Given the description of an element on the screen output the (x, y) to click on. 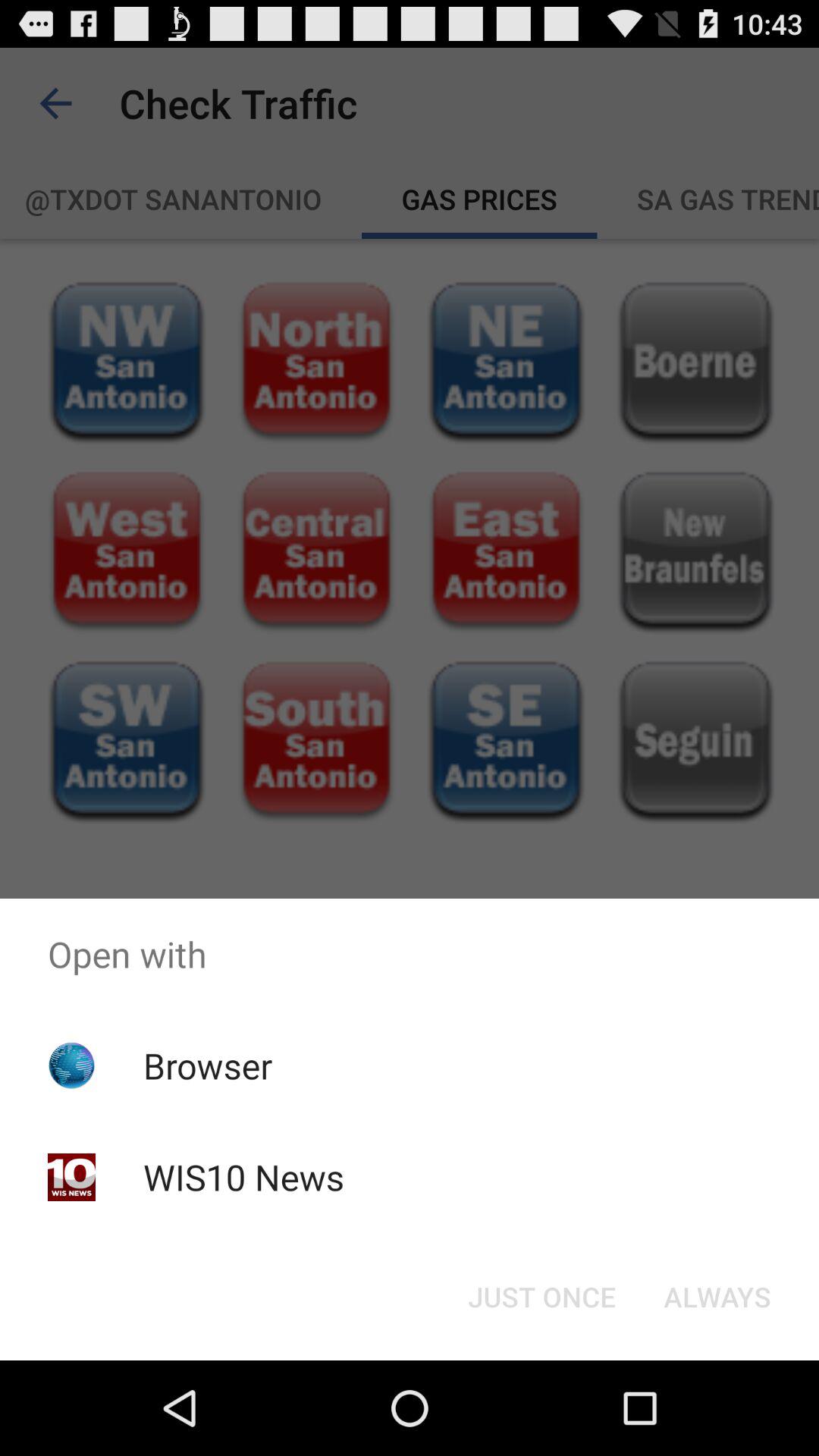
tap item at the bottom (541, 1296)
